Given the description of an element on the screen output the (x, y) to click on. 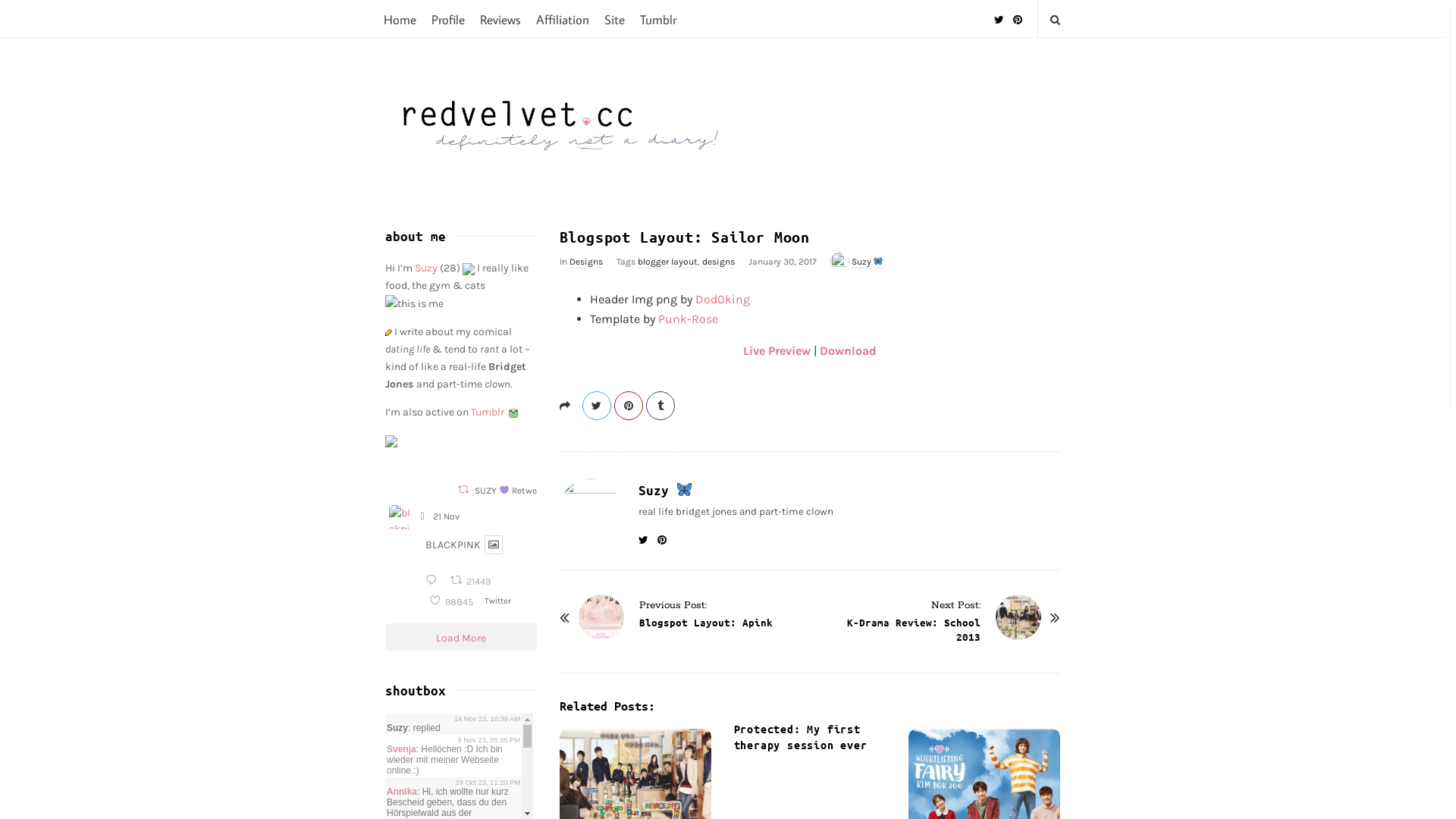
SUZY Retweeted Element type: text (514, 490)
Blogspot Layout: Apink Element type: hover (600, 617)
Profile Element type: text (447, 18)
K-Drama Review: School 2013 Element type: text (912, 628)
Live Preview Element type: text (776, 350)
Dod0king Element type: text (721, 298)
Protected: My first therapy session ever Element type: text (800, 736)
Next Post: Element type: text (955, 604)
Retweet on Twitter 1727074734771491246
21449 Element type: text (472, 581)
blogger layout Element type: text (666, 262)
Suzy Element type: text (866, 262)
21 Nov Element type: text (446, 516)
Tumblr Element type: text (486, 411)
Suzy Element type: text (665, 490)
Tumblr Element type: text (658, 18)
Previous Post: Element type: text (672, 604)
Download Element type: text (847, 350)
Like on Twitter 1727074734771491246
98845 Element type: text (452, 601)
Blogspot Layout: Apink Element type: text (704, 621)
Twitter Element type: hover (998, 14)
Site Element type: text (613, 18)
Load More Element type: text (460, 636)
Affiliation Element type: text (561, 18)
Designs Element type: text (585, 262)
K-Drama Review: School 2013 Element type: hover (1017, 617)
Twitter 1727074734771491246 Element type: text (500, 600)
Pinterest Element type: hover (1017, 14)
Suzy Element type: text (425, 267)
designs Element type: text (718, 262)
Reviews Element type: text (499, 18)
this is me Element type: hover (414, 303)
Punk-Rose Element type: text (688, 318)
Retweet on Twitter Element type: text (463, 489)
Reply on Twitter 1727074734771491246 Element type: text (433, 581)
Home Element type: text (399, 18)
